Given the description of an element on the screen output the (x, y) to click on. 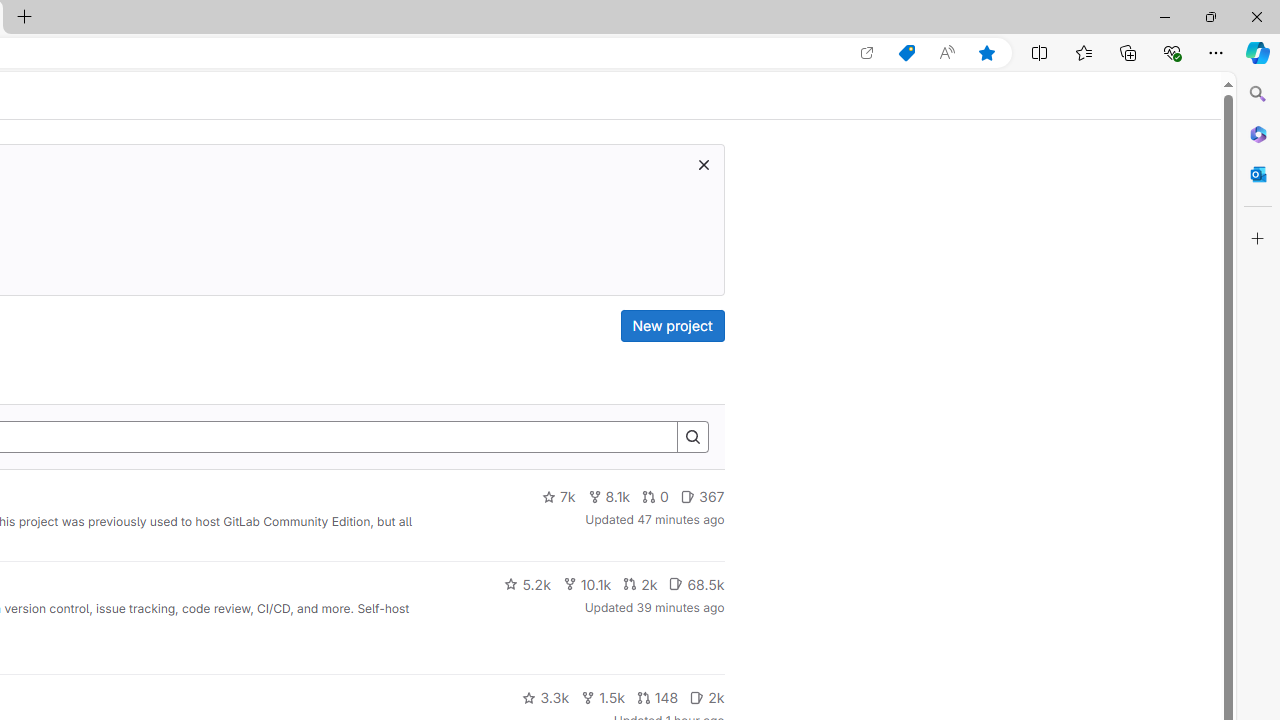
Open in app (867, 53)
Class: s16 gl-icon gl-button-icon  (703, 164)
8.1k (609, 497)
68.5k (696, 583)
367 (701, 497)
2k (706, 697)
0 (655, 497)
